Given the description of an element on the screen output the (x, y) to click on. 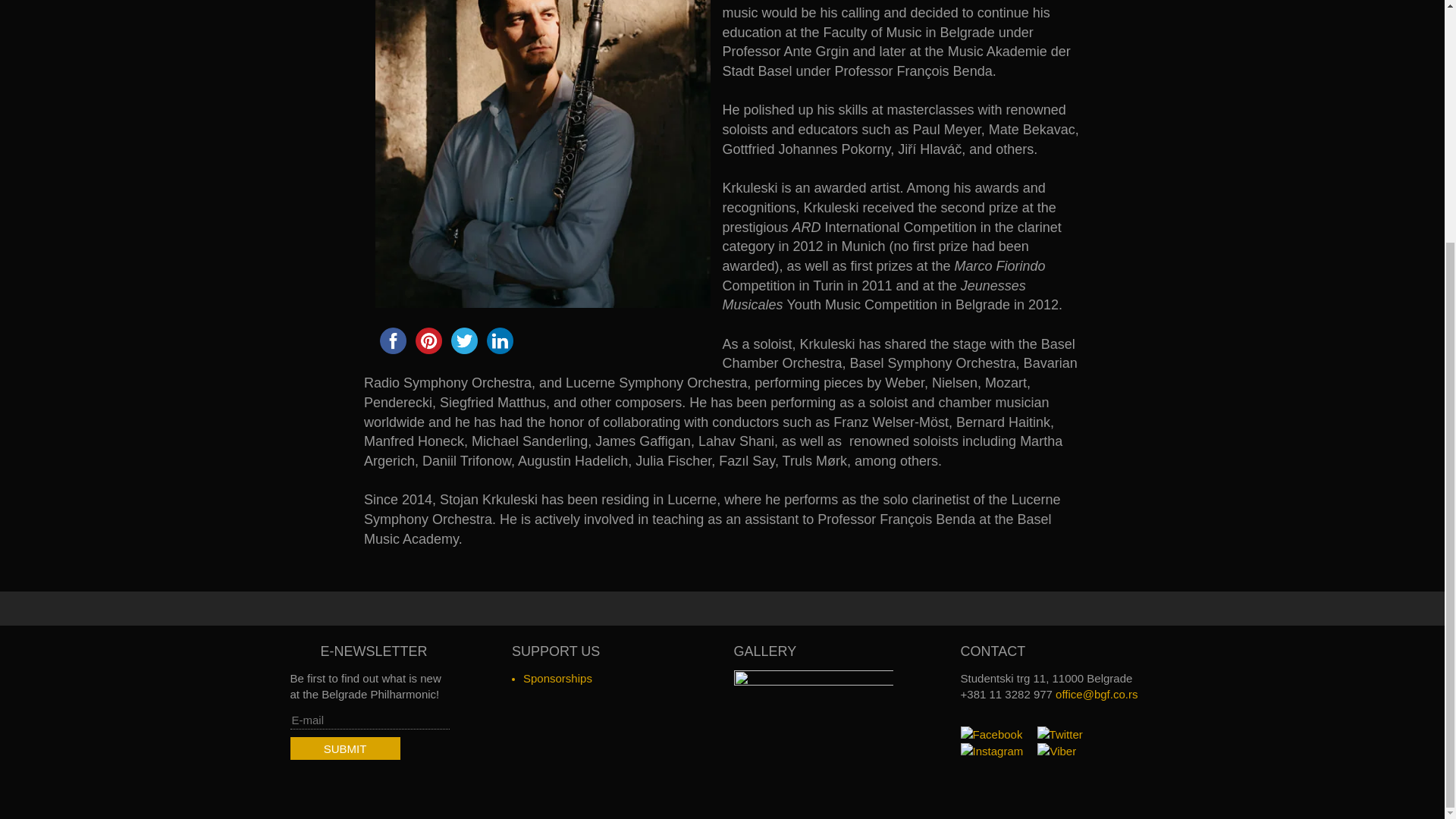
Submit (344, 748)
